Given the description of an element on the screen output the (x, y) to click on. 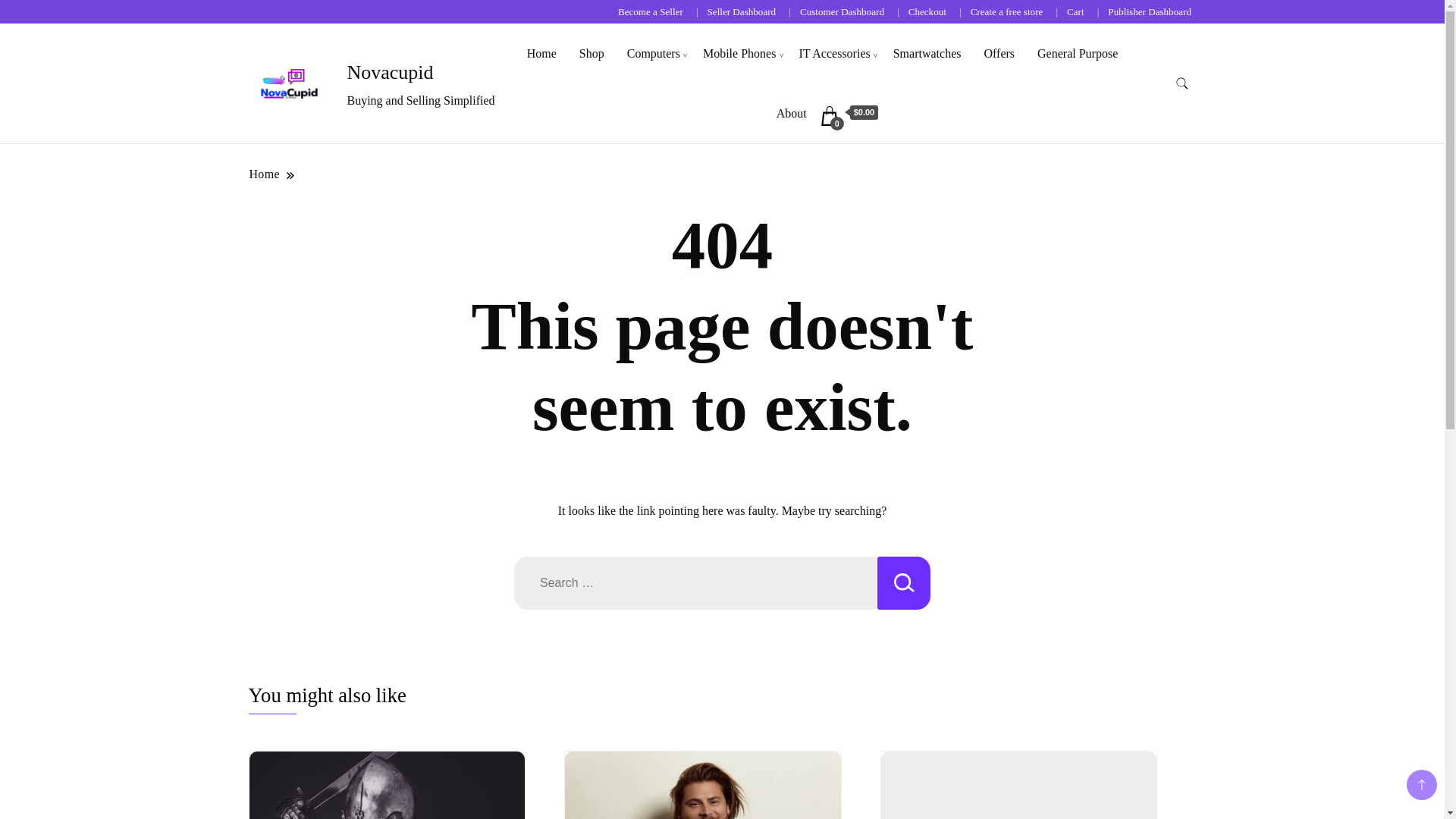
Computers (653, 53)
Search (903, 582)
Publisher Dashboard (1149, 11)
Smartwatches (927, 53)
Mobile Phones (739, 53)
Customer Dashboard (841, 11)
Seller Dashboard (741, 11)
IT Accessories (834, 53)
Checkout (927, 11)
Novacupid (390, 72)
